Given the description of an element on the screen output the (x, y) to click on. 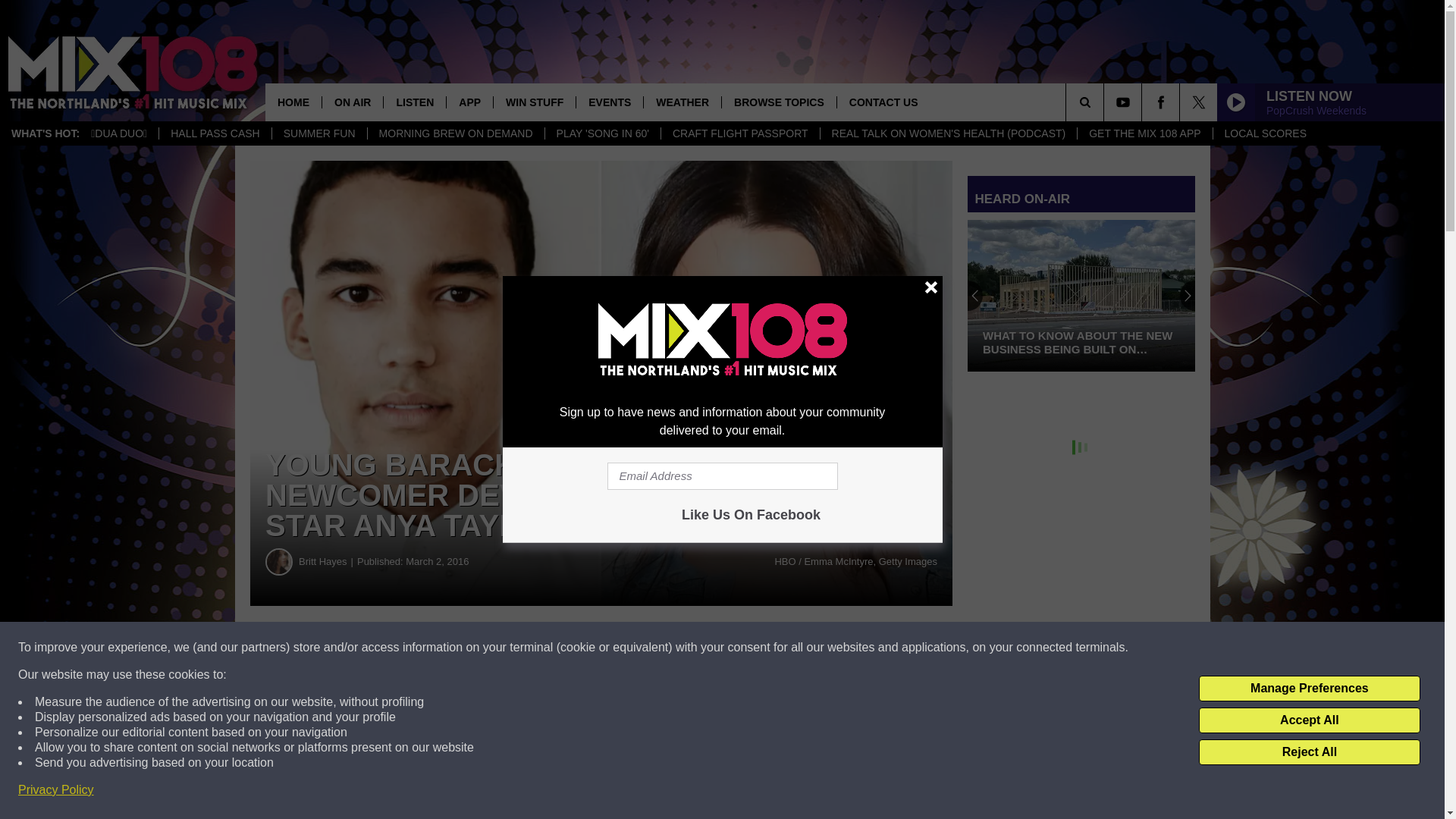
Share on Facebook (460, 647)
ON AIR (351, 102)
LOCAL SCORES (1264, 133)
SEARCH (1106, 102)
HALL PASS CASH (214, 133)
GET THE MIX 108 APP (1144, 133)
Email Address (722, 475)
HOME (292, 102)
CRAFT FLIGHT PASSPORT (740, 133)
PLAY 'SONG IN 60' (602, 133)
Reject All (1309, 751)
Accept All (1309, 720)
Privacy Policy (55, 789)
Share on Twitter (741, 647)
SUMMER FUN (318, 133)
